Given the description of an element on the screen output the (x, y) to click on. 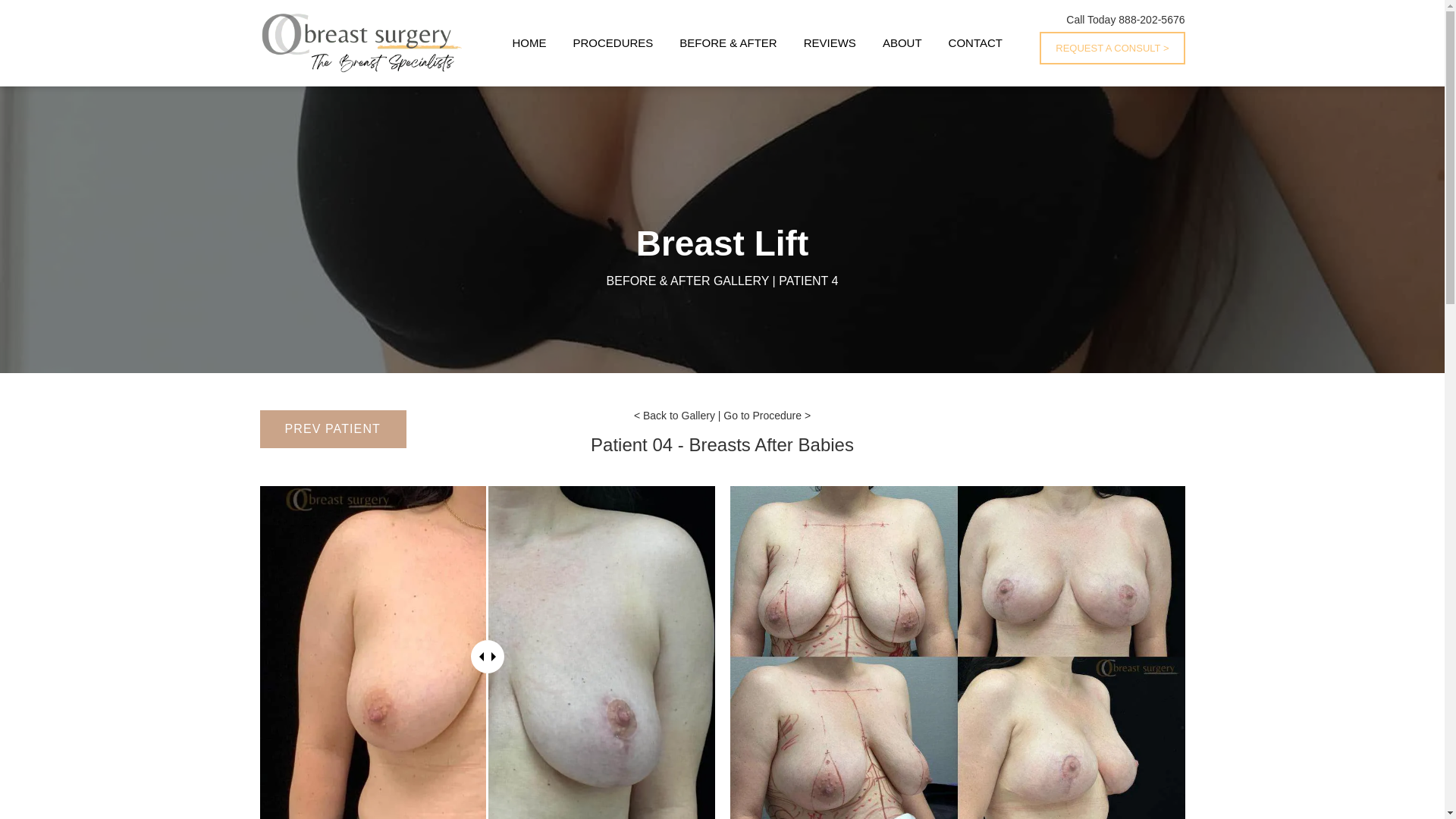
REVIEWS (829, 42)
Call Today 888-202-5676 (361, 43)
HOME (529, 42)
CONTACT (976, 42)
Reviews (829, 42)
Home (529, 42)
ABOUT (901, 42)
888-202-5676 (1151, 19)
PROCEDURES (612, 42)
